Given the description of an element on the screen output the (x, y) to click on. 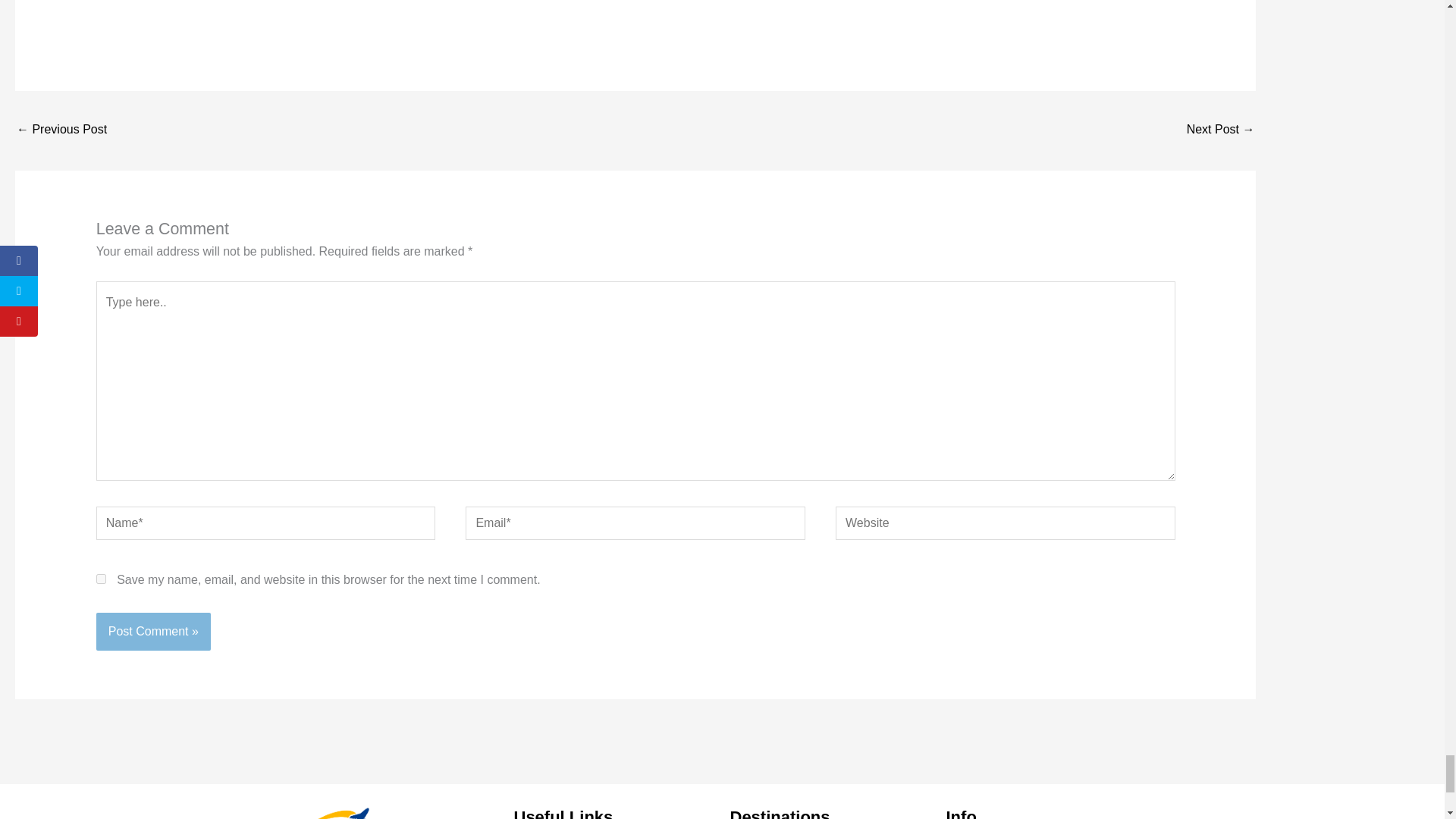
Source link (125, 0)
yes (101, 578)
